Given the description of an element on the screen output the (x, y) to click on. 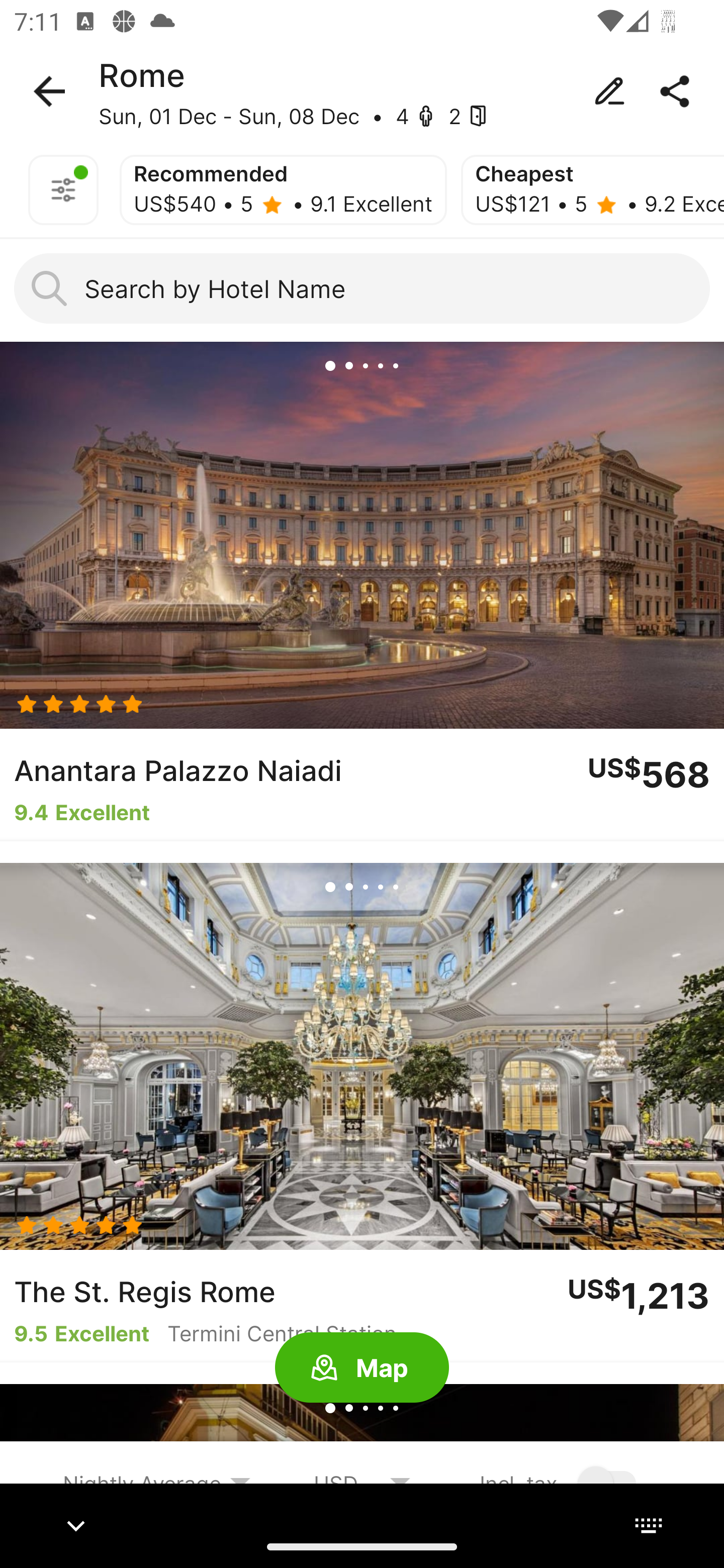
Rome Sun, 01 Dec - Sun, 08 Dec  •  4 -  2 - (361, 91)
Recommended  US$540  • 5 - • 9.1 Excellent (282, 190)
Cheapest US$121  • 5 - • 9.2 Excellent (592, 190)
Search by Hotel Name  (361, 288)
10.0 Anantara Palazzo Naiadi  9.4 Excellent (362, 590)
Map  (361, 1367)
